Given the description of an element on the screen output the (x, y) to click on. 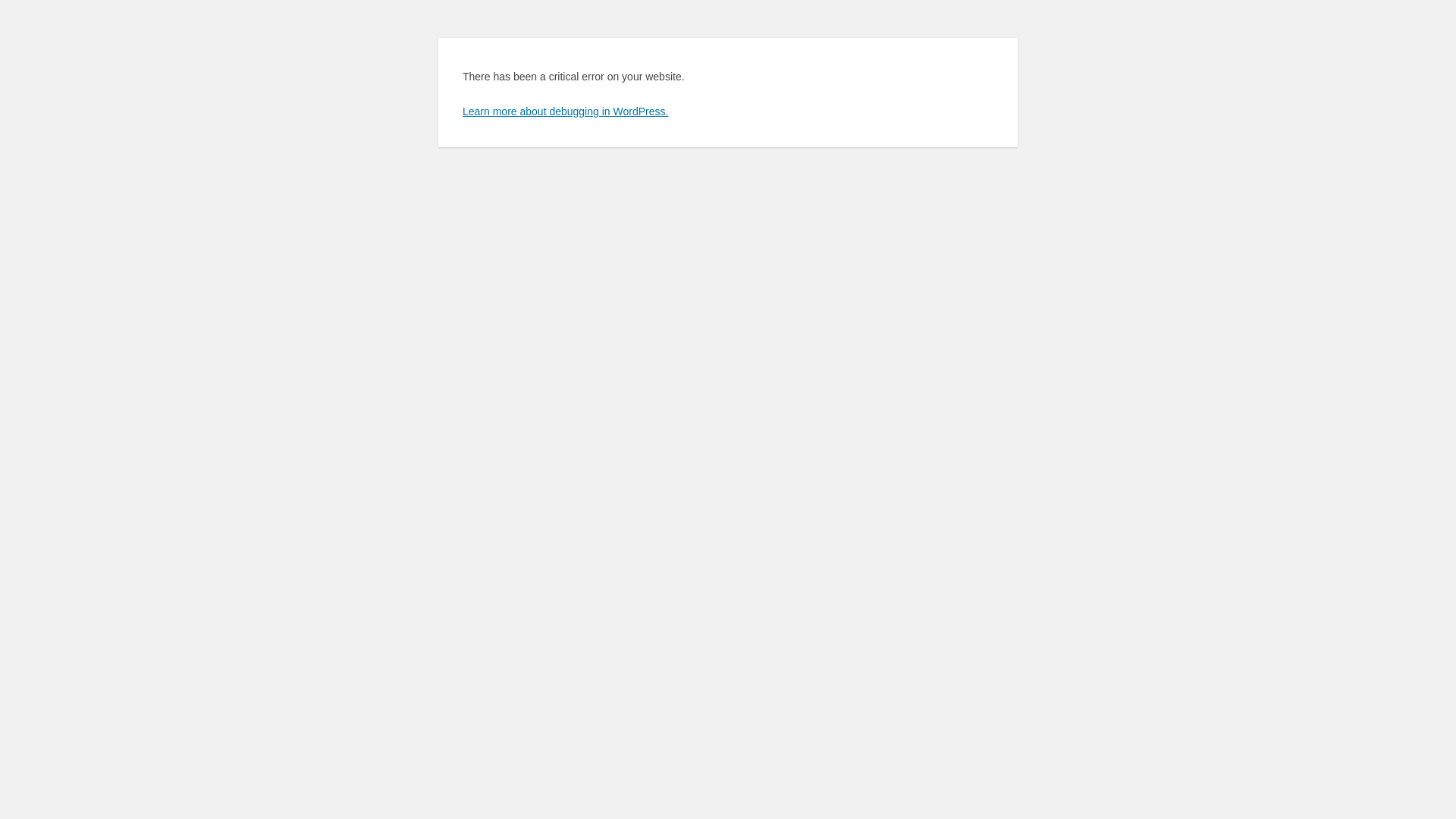
Learn more about debugging in WordPress. Element type: text (565, 111)
